Given the description of an element on the screen output the (x, y) to click on. 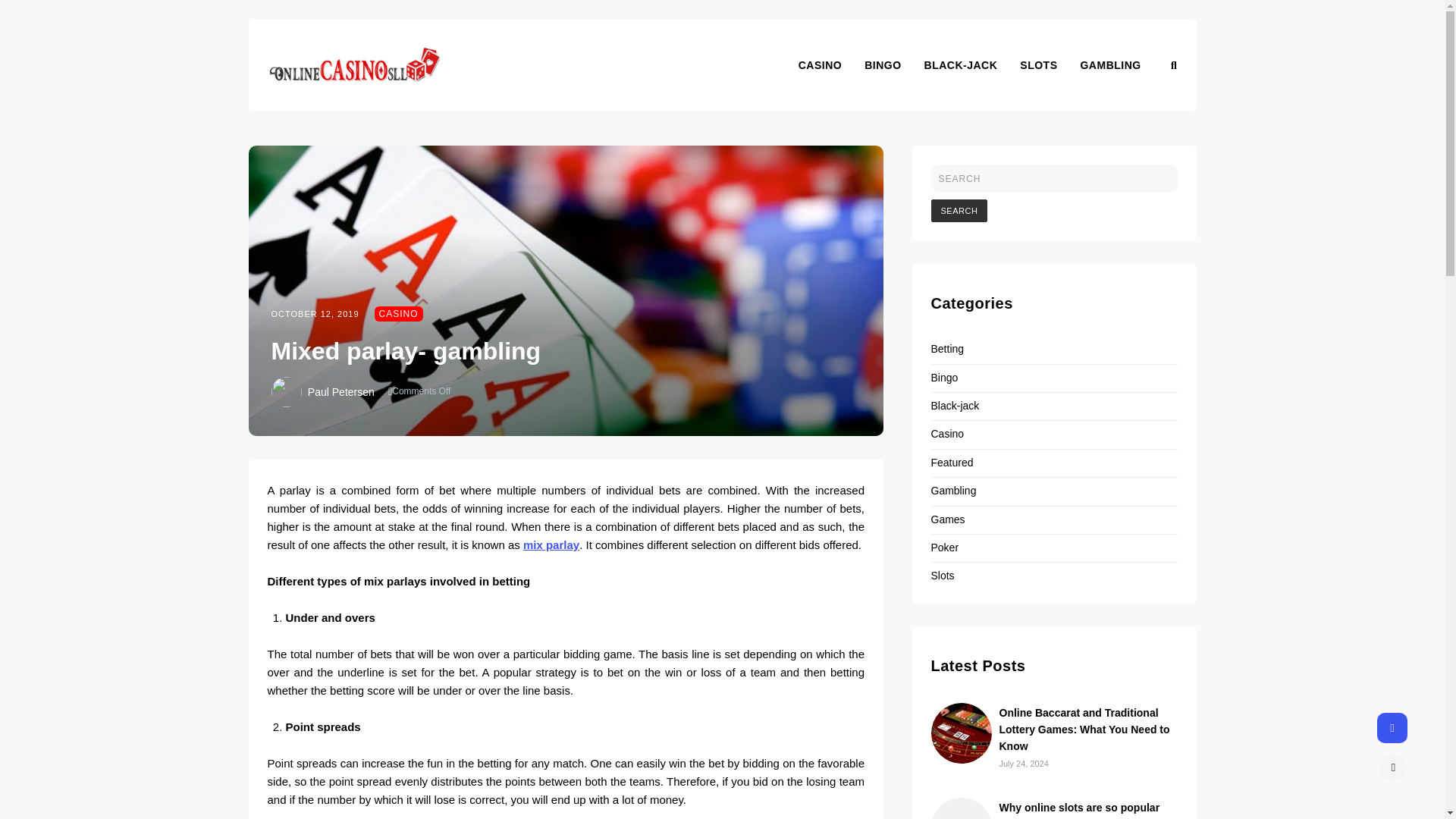
OCTOBER 12, 2019 (314, 313)
BLACK-JACK (972, 64)
Black-jack (955, 405)
Why online slots are so popular among gamblers? (1079, 810)
CASINO (398, 313)
mix parlay (550, 544)
Search (959, 210)
Casino (947, 433)
Posts by Paul Petersen (340, 391)
Games (948, 519)
